Given the description of an element on the screen output the (x, y) to click on. 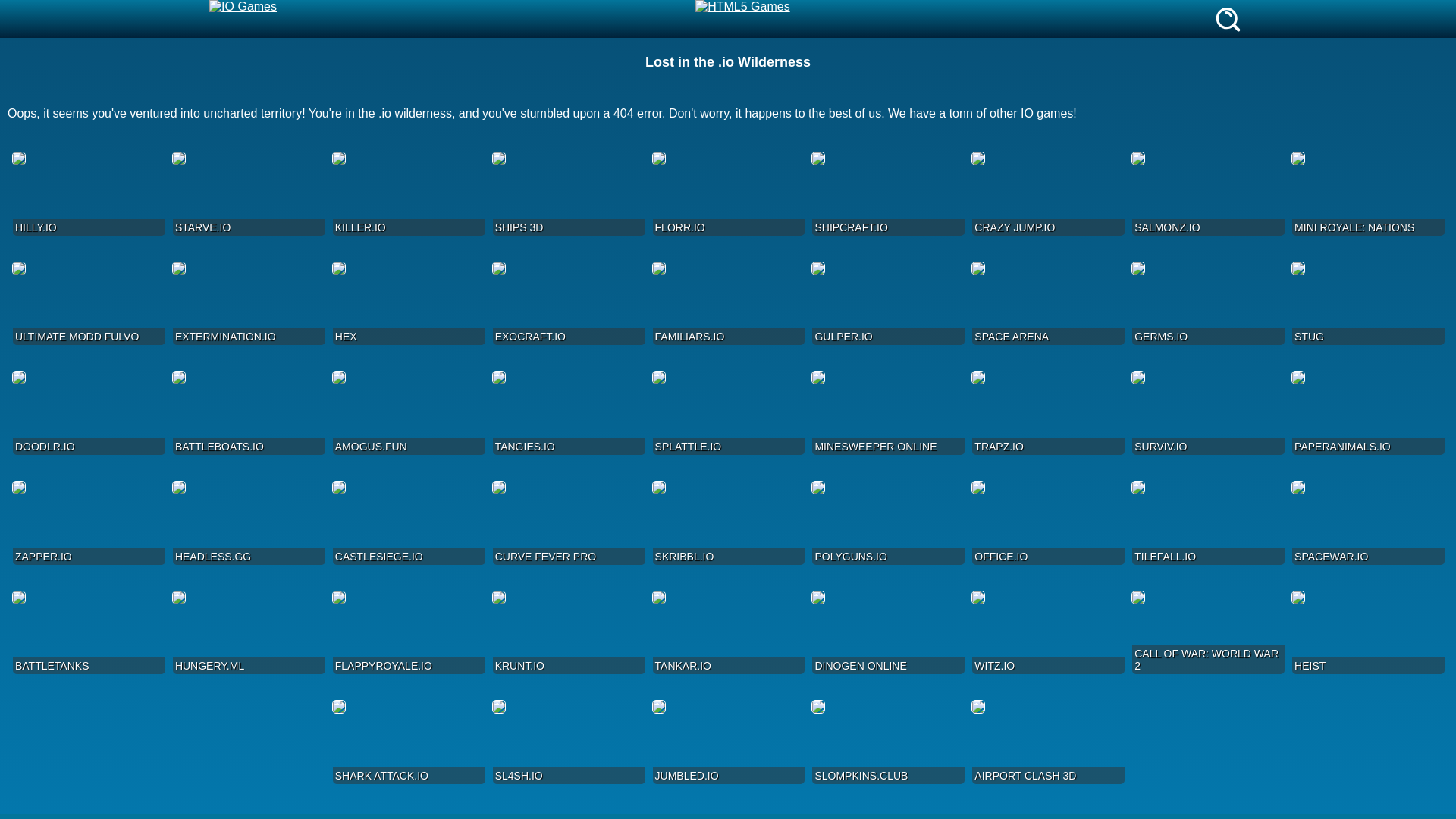
TILEFALL.IO (1207, 524)
BATTLETANKS (87, 634)
GULPER.IO (886, 304)
OFFICE.IO (1047, 524)
HEADLESS.GG (247, 524)
DOODLR.IO (87, 414)
SALMONZ.IO (1207, 195)
SHIPS 3D (568, 195)
BATTLEBOATS.IO (247, 414)
AMOGUS.FUN (407, 414)
